Given the description of an element on the screen output the (x, y) to click on. 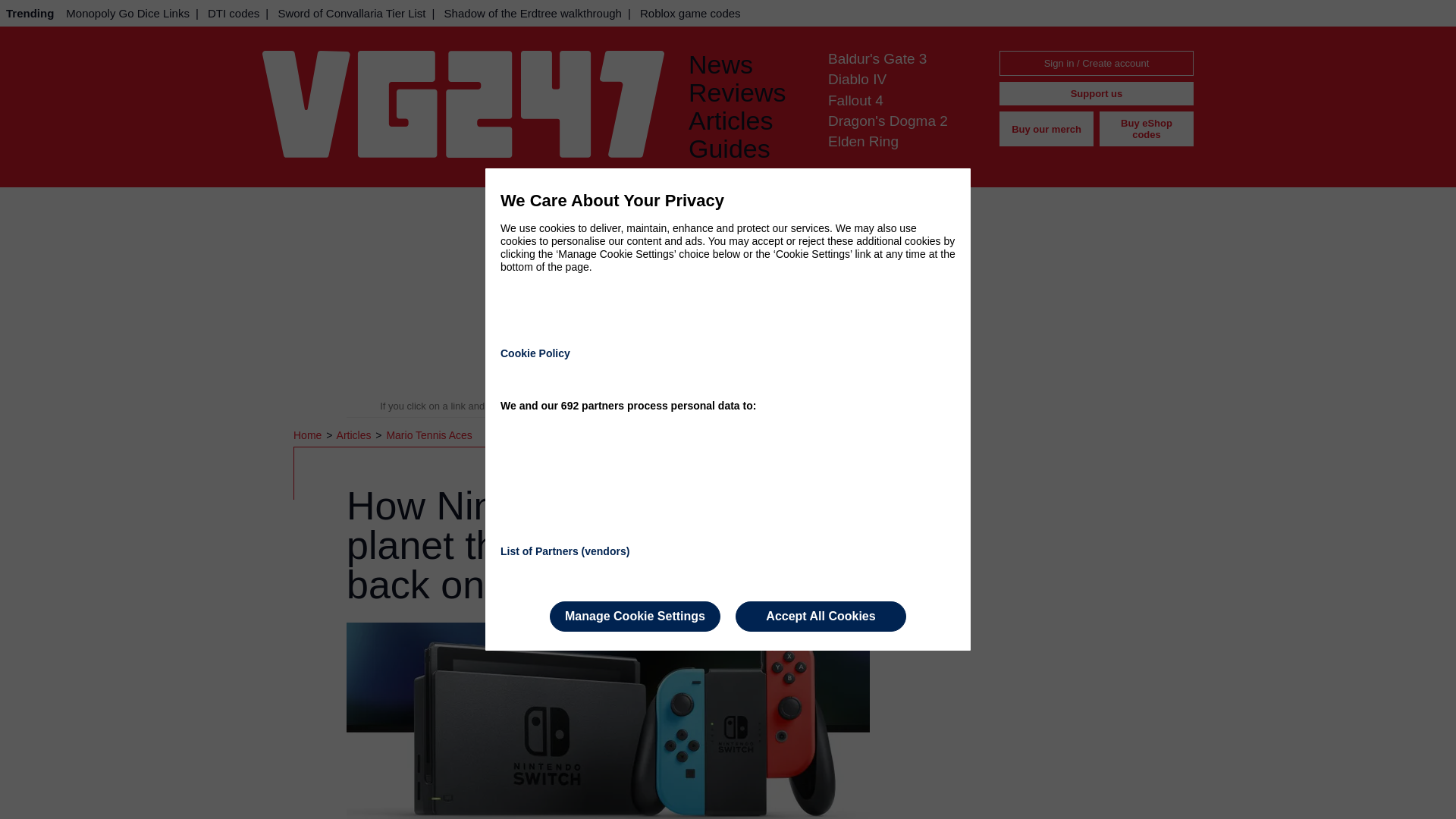
Monopoly Go Dice Links (127, 13)
Guides (745, 148)
Home (309, 435)
News (745, 64)
Buy eShop codes (1146, 128)
Reviews (745, 92)
Articles (355, 435)
Guides (745, 148)
Articles (745, 121)
Sword of Convallaria Tier List (350, 13)
